Given the description of an element on the screen output the (x, y) to click on. 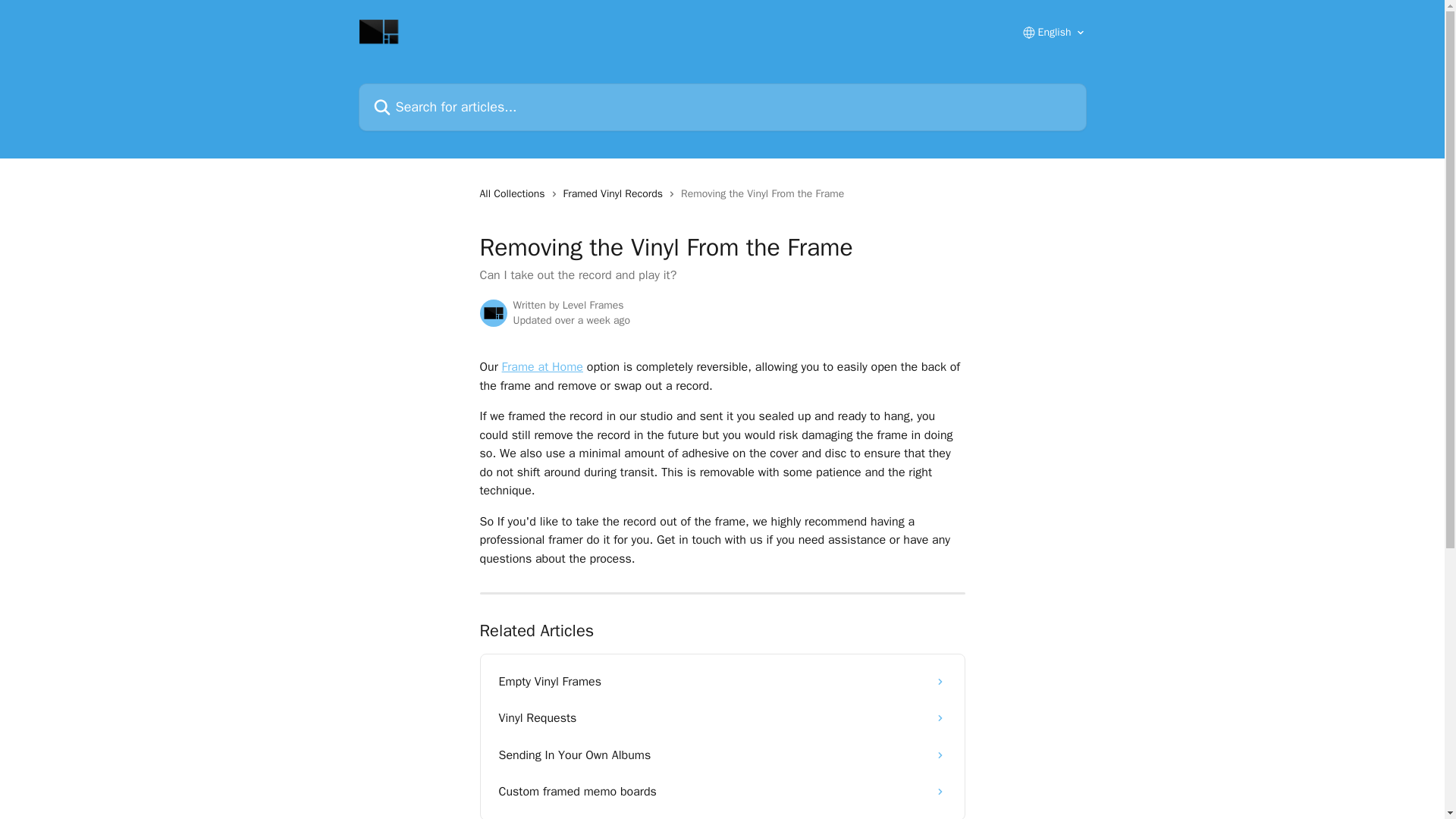
Vinyl Requests (722, 718)
Custom framed memo boards (722, 791)
All Collections (514, 193)
Empty Vinyl Frames (722, 681)
Frame at Home (542, 366)
Sending In Your Own Albums (722, 755)
Framed Vinyl Records (615, 193)
